Given the description of an element on the screen output the (x, y) to click on. 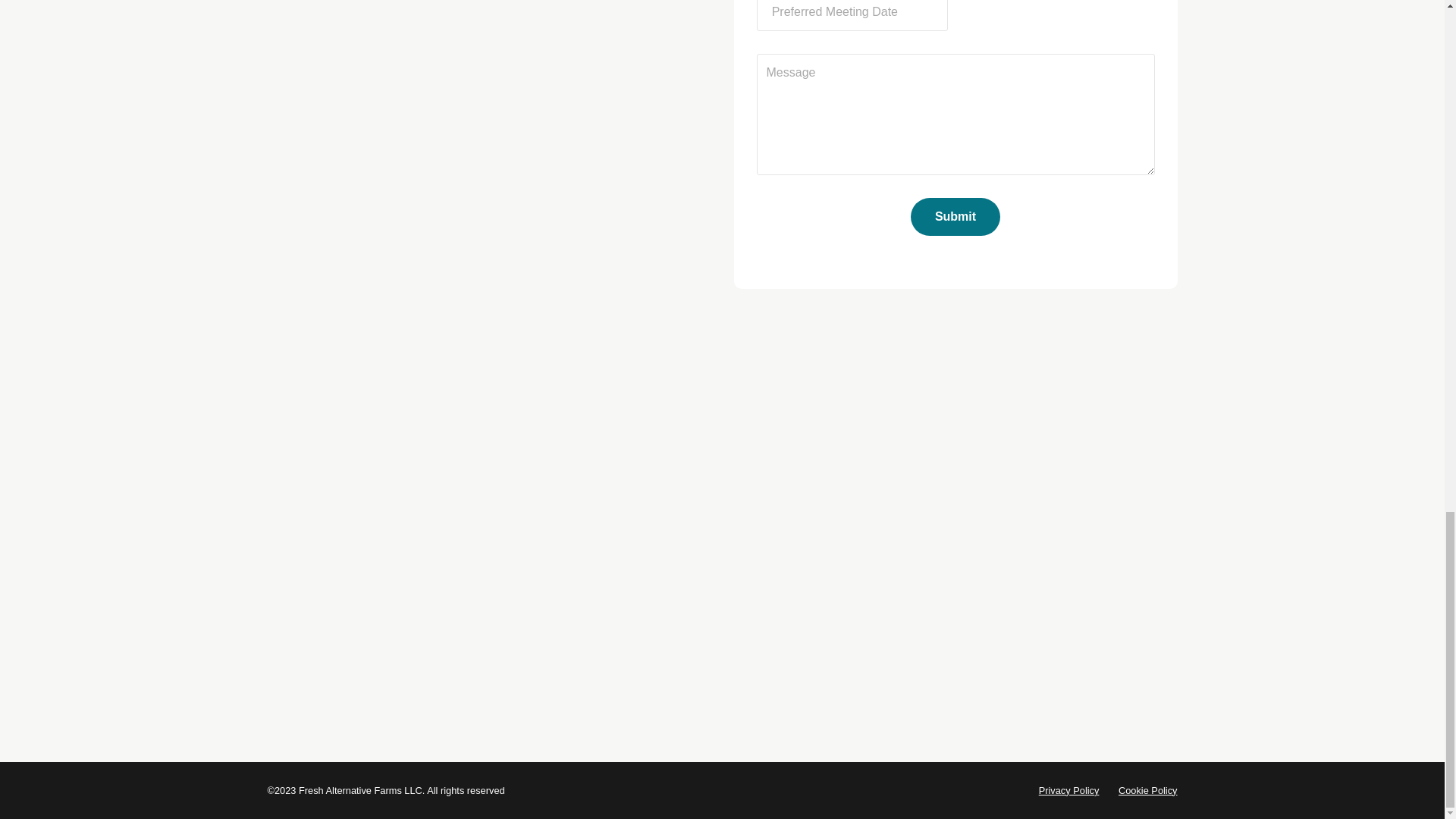
Subscribe (1035, 454)
Submit (955, 216)
